Given the description of an element on the screen output the (x, y) to click on. 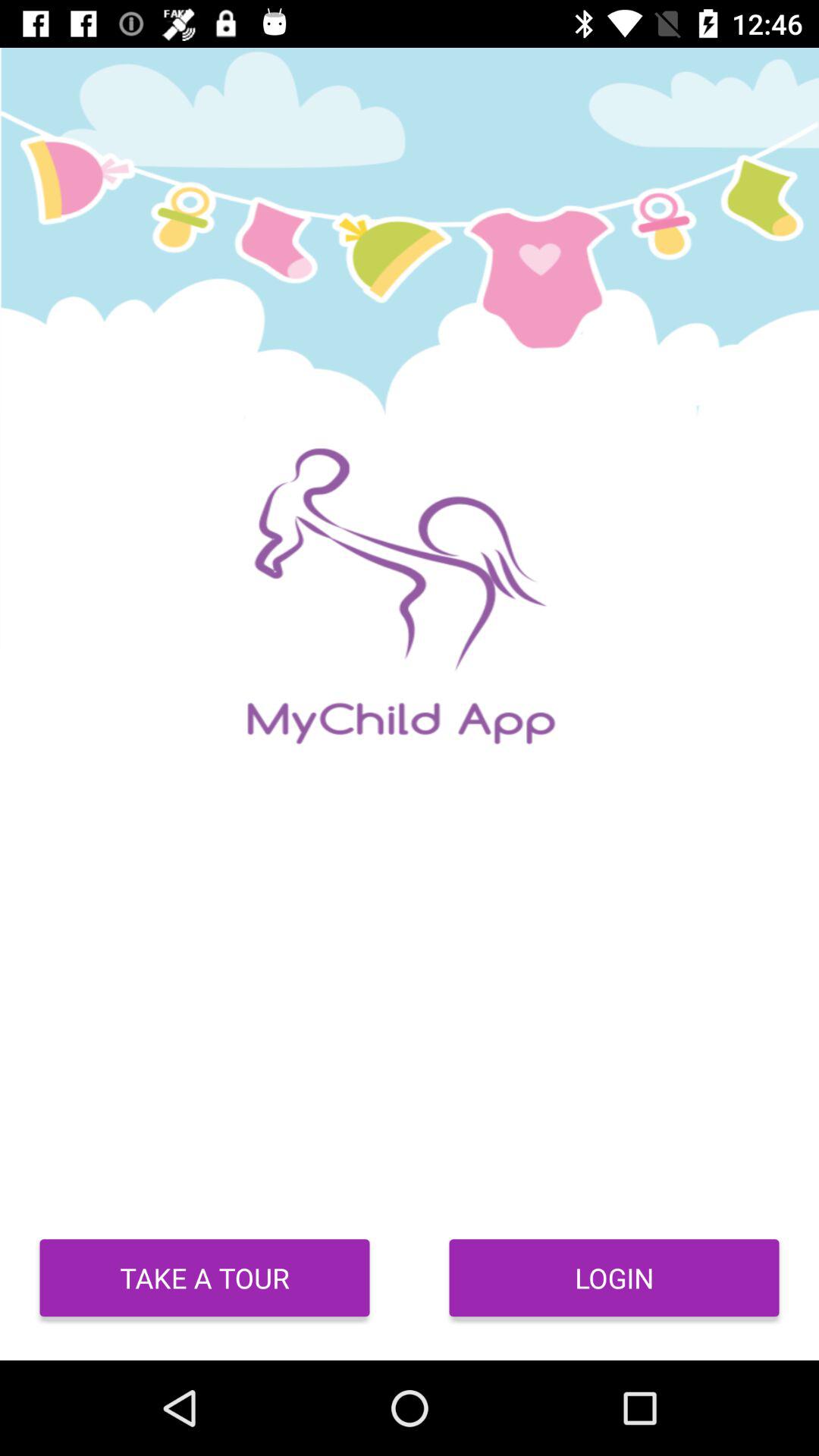
jump to login icon (614, 1277)
